Given the description of an element on the screen output the (x, y) to click on. 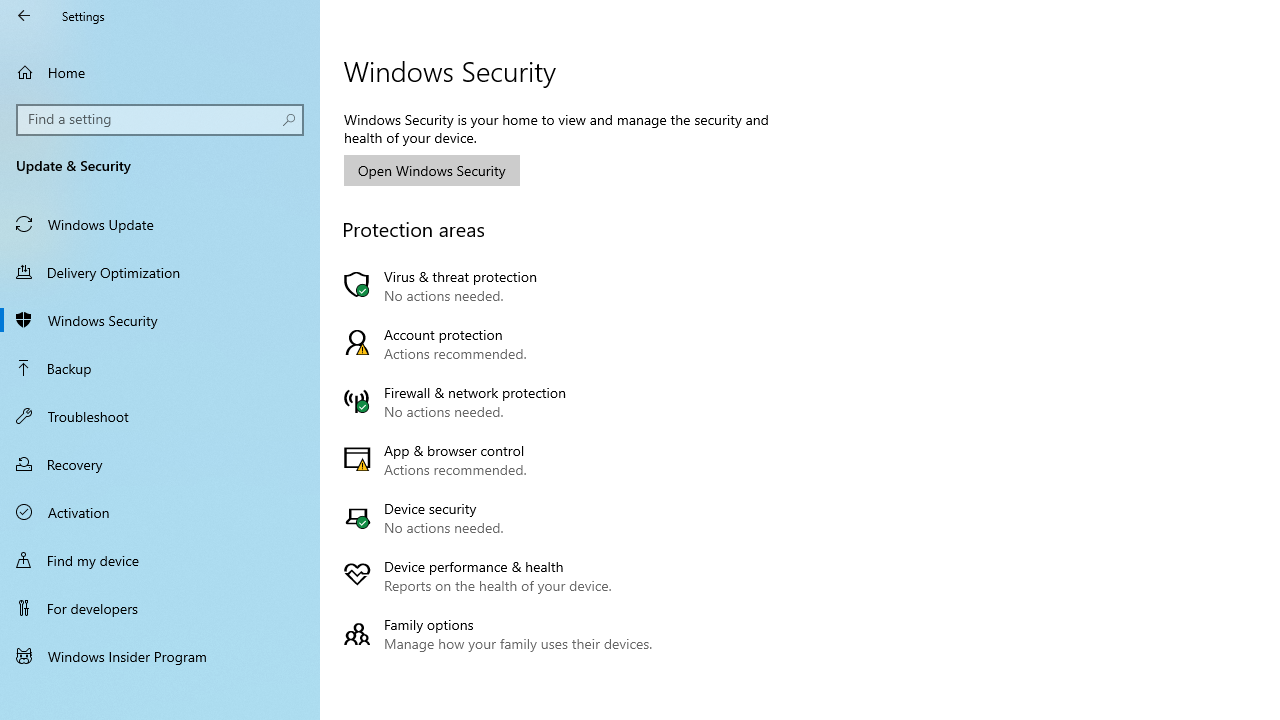
Recovery (160, 463)
Device performance & health (502, 575)
Windows Security (160, 319)
Device security No actions needed. (502, 517)
Delivery Optimization (160, 271)
